Given the description of an element on the screen output the (x, y) to click on. 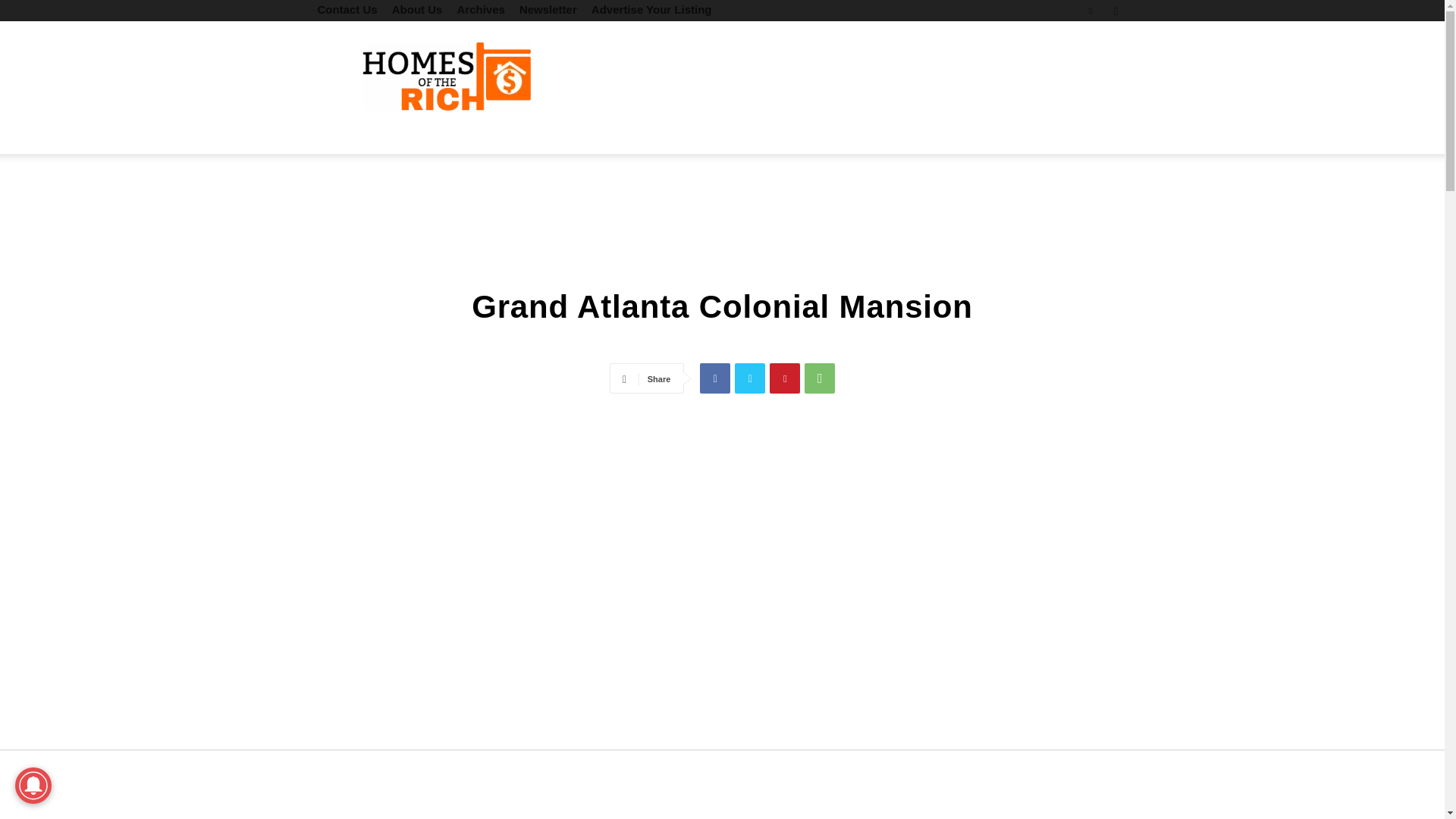
About Us (416, 9)
Advertise Your Listing (651, 9)
SEARCH BY STATE (512, 135)
CANADA (622, 135)
Newsletter (547, 9)
Archives (480, 9)
Advertisement (850, 76)
Facebook (1090, 10)
UNITED STATES (381, 135)
Instagram (1114, 10)
Contact Us (347, 9)
